Given the description of an element on the screen output the (x, y) to click on. 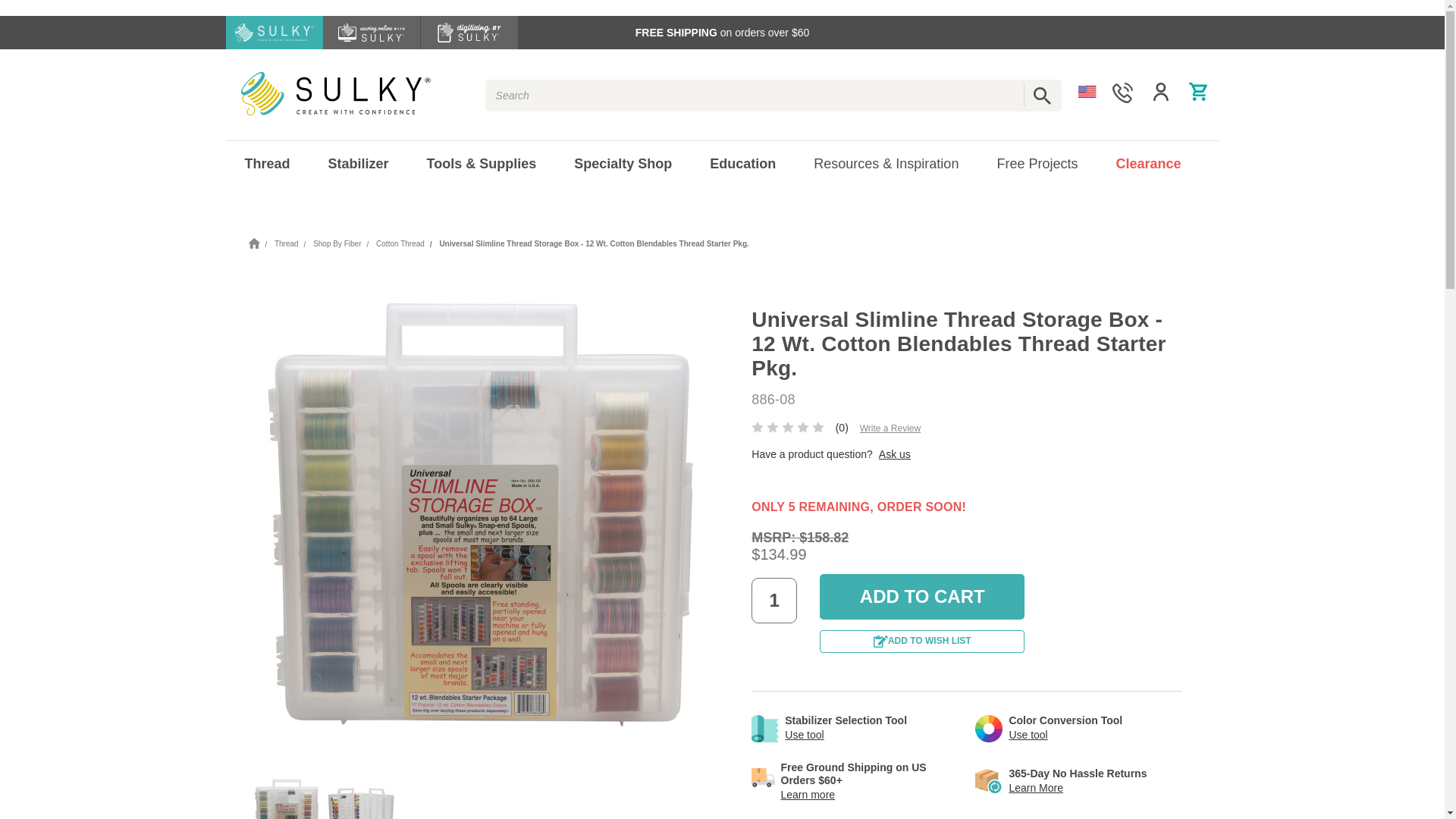
1 (773, 600)
Sulky.com (335, 94)
Thread (266, 163)
Add to Cart (922, 596)
